Given the description of an element on the screen output the (x, y) to click on. 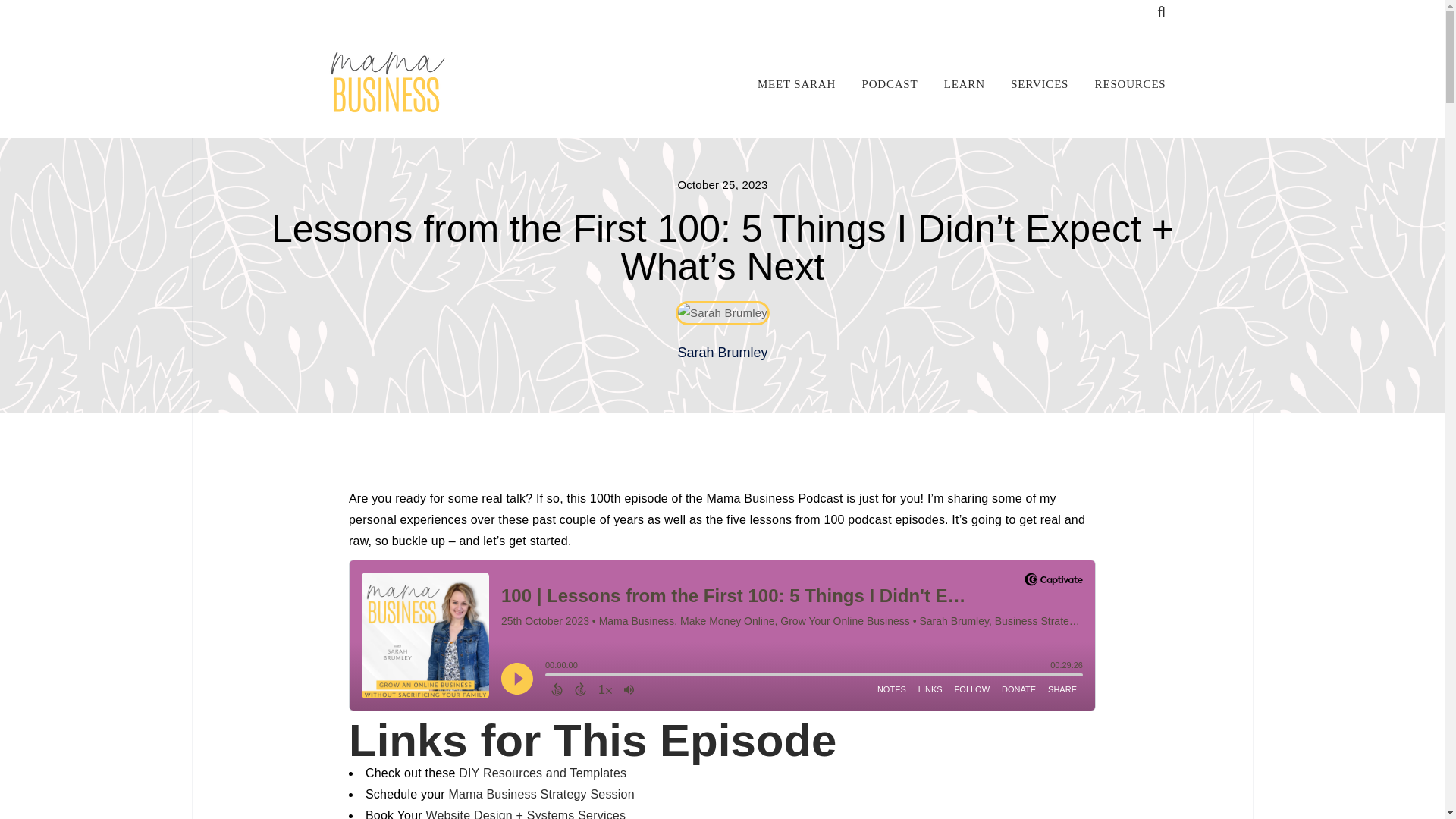
RESOURCES (1118, 84)
PODCAST (877, 84)
DIY Resources and Templates (542, 772)
SERVICES (1028, 84)
Sarah Brumley (385, 82)
LEARN (953, 84)
October 25, 2023 (722, 184)
Mama Business Strategy Session (541, 793)
MEET SARAH (785, 84)
